Given the description of an element on the screen output the (x, y) to click on. 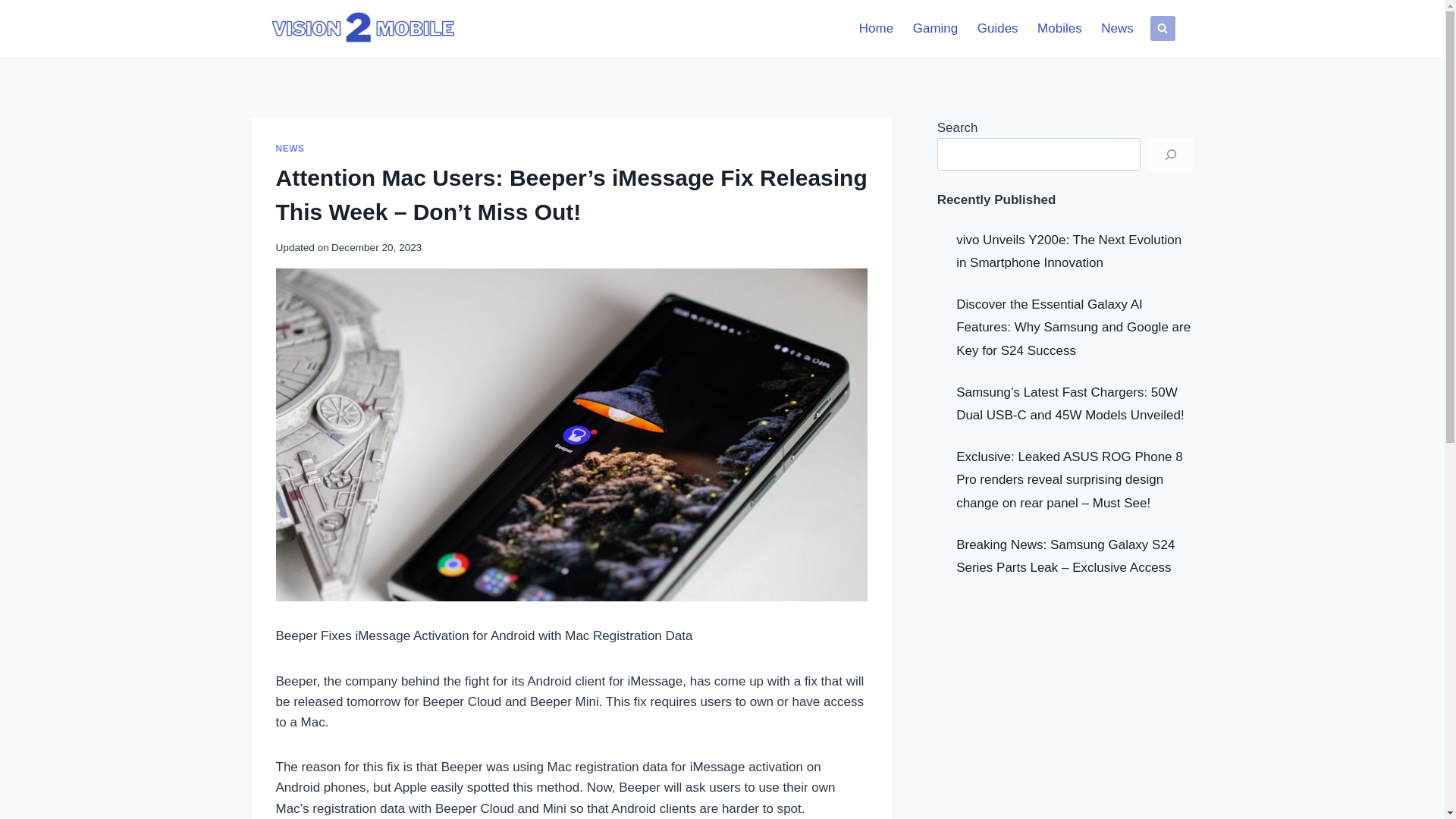
Mobiles (1058, 28)
News (1116, 28)
NEWS (290, 148)
Guides (997, 28)
Home (875, 28)
Gaming (935, 28)
